Given the description of an element on the screen output the (x, y) to click on. 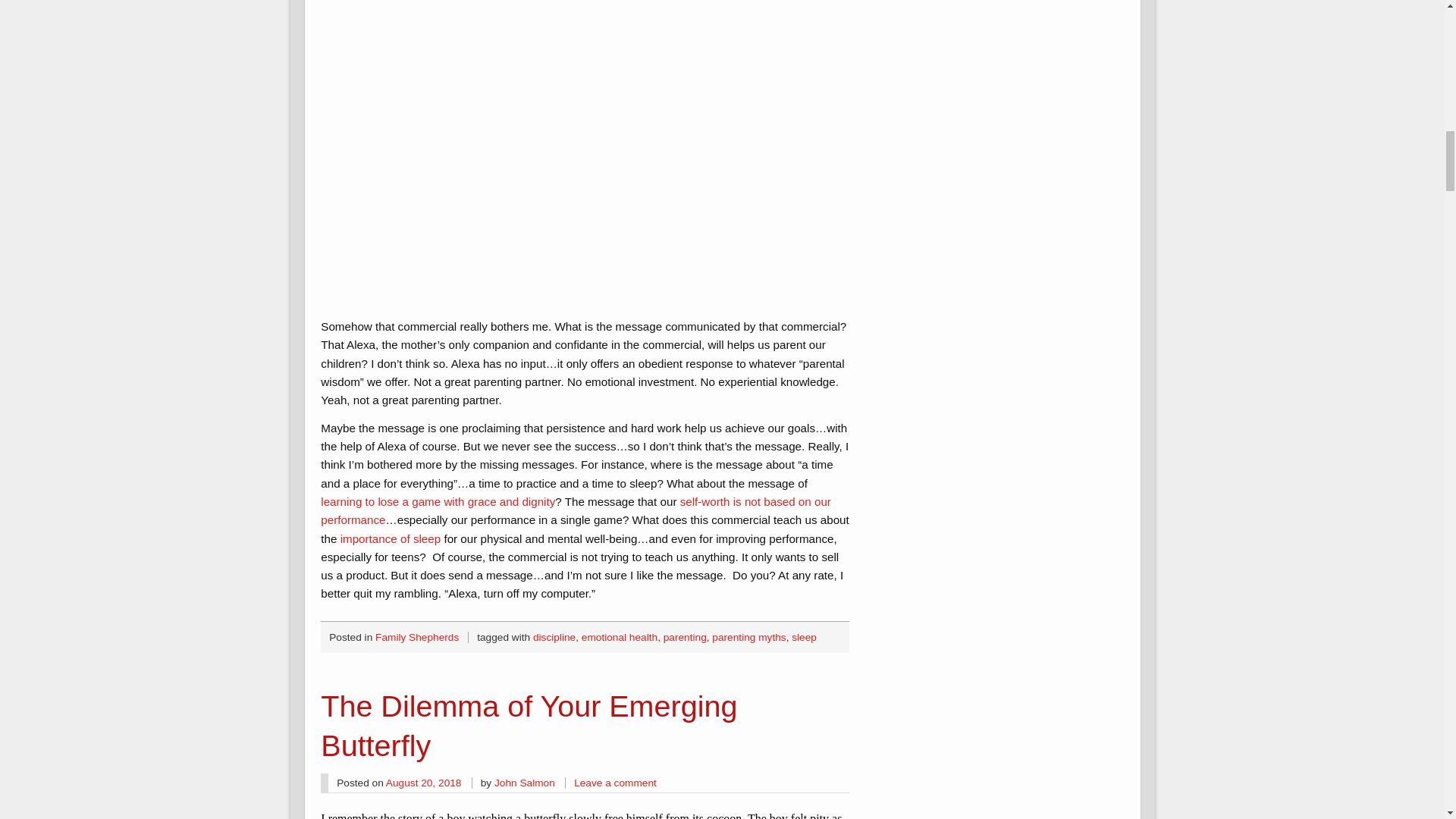
6:05 pm (423, 782)
View all posts by John Salmon (524, 782)
